Given the description of an element on the screen output the (x, y) to click on. 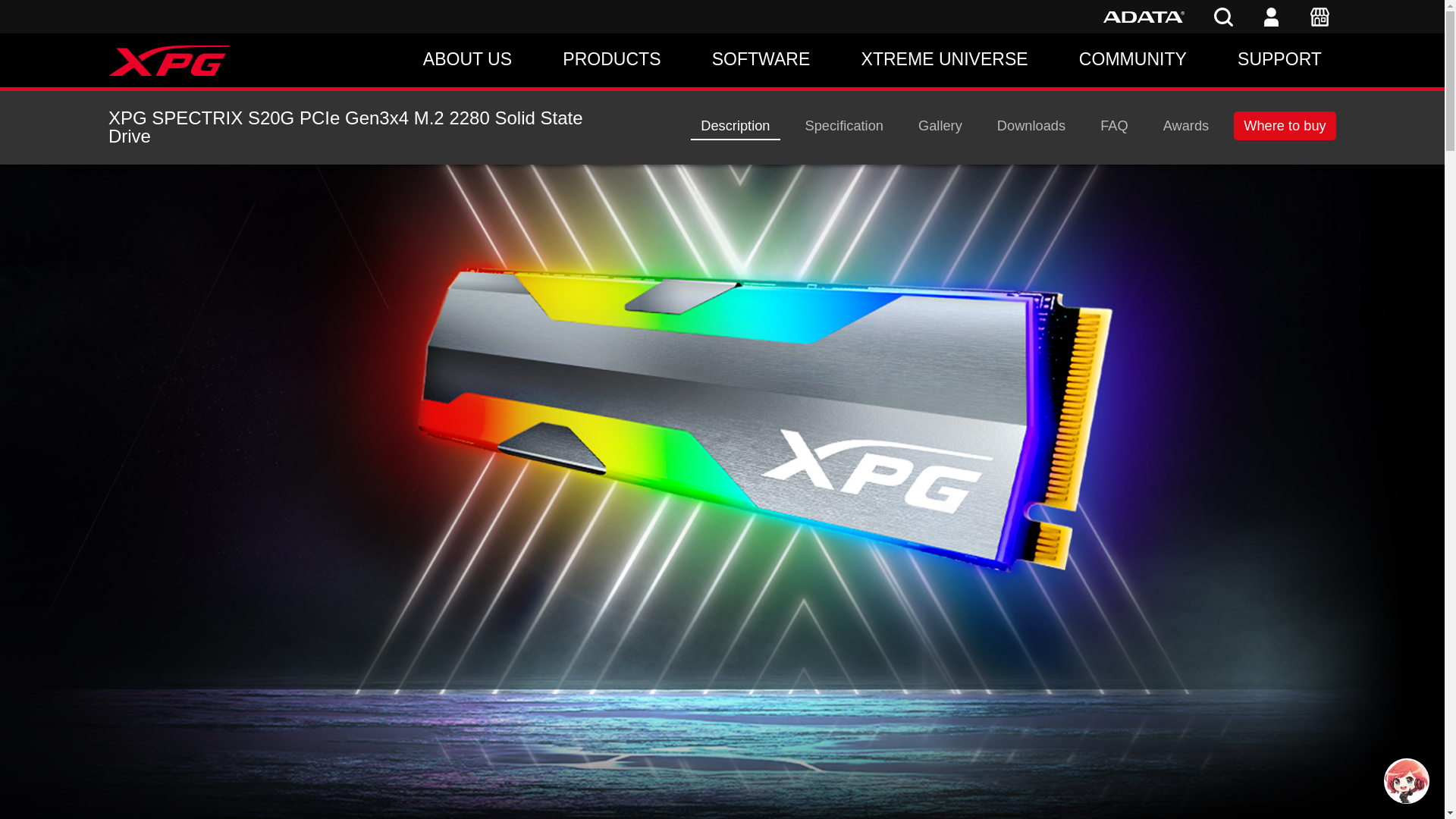
COMMUNITY (1132, 59)
SUPPORT (1279, 59)
XTREME UNIVERSE (944, 59)
PRODUCTS (611, 59)
ABOUT US (467, 59)
SOFTWARE (760, 59)
